Given the description of an element on the screen output the (x, y) to click on. 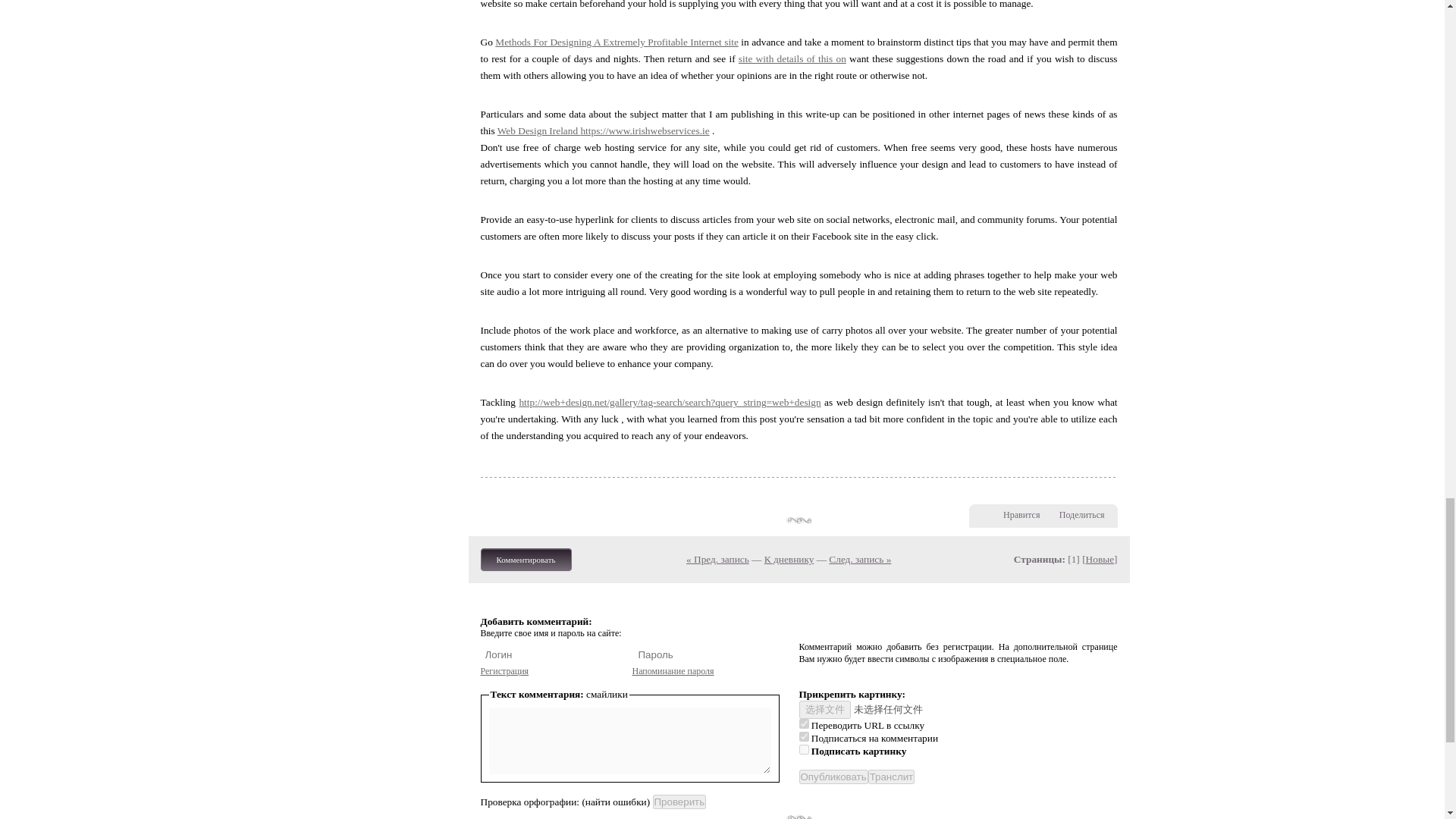
1 (804, 749)
yes (804, 737)
yes (804, 723)
